Given the description of an element on the screen output the (x, y) to click on. 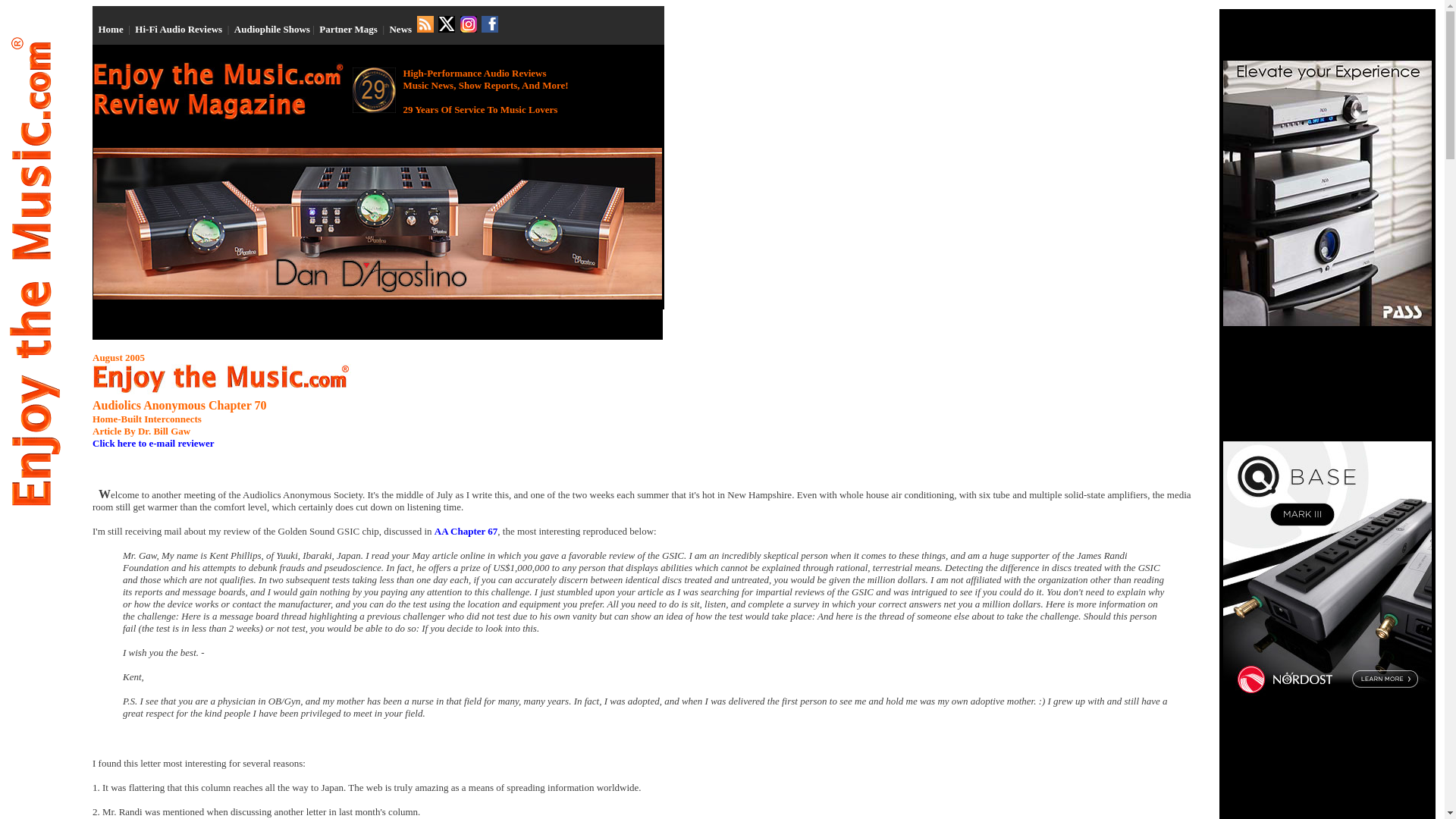
AA Chapter 67 (465, 531)
Hi-Fi Audio Reviews (178, 29)
News (400, 29)
Home (111, 29)
Partner Mags (347, 29)
Audiophile Shows (272, 29)
Click here to e-mail reviewer (153, 442)
